Given the description of an element on the screen output the (x, y) to click on. 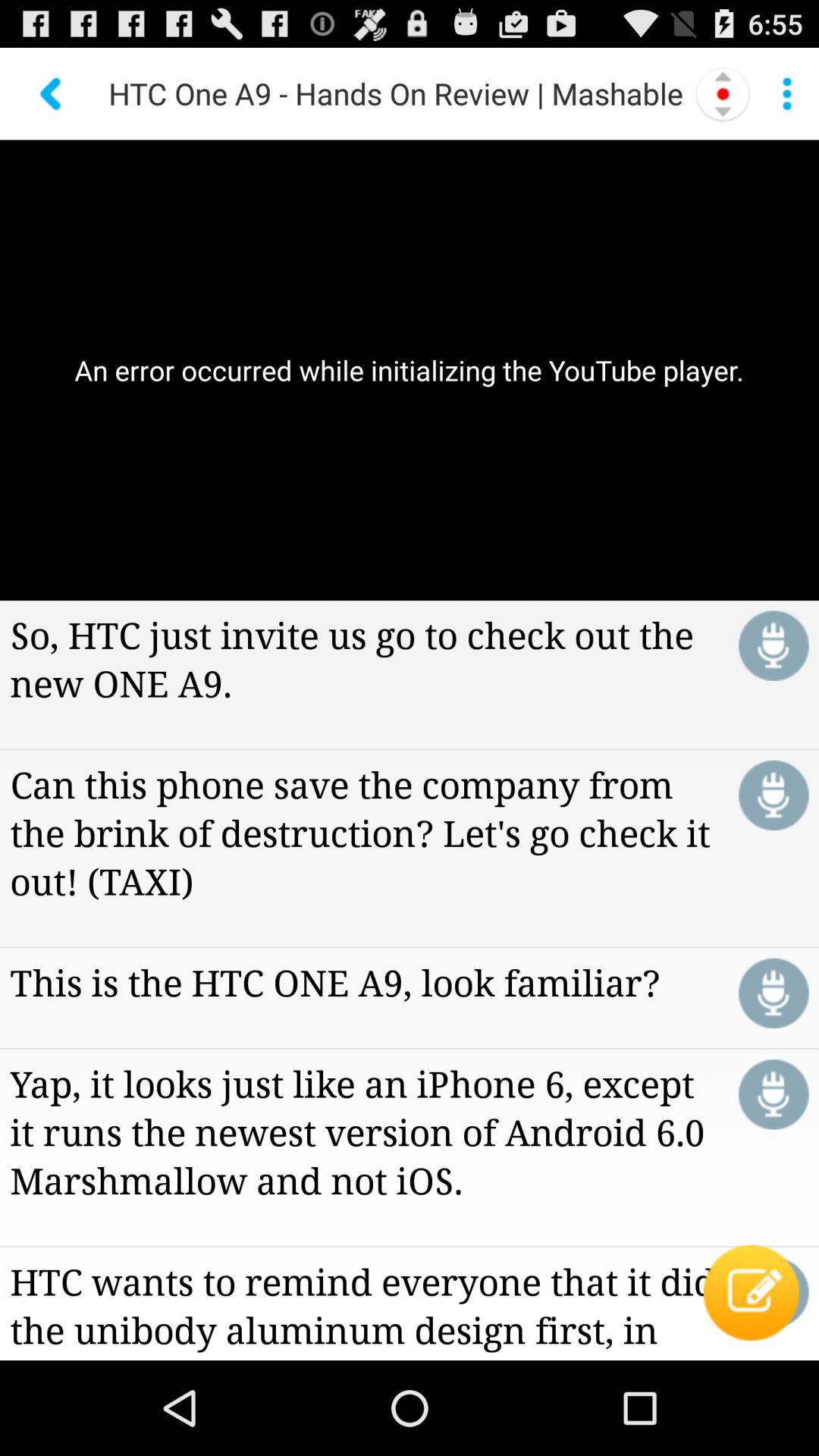
press the icon below the yap it looks app (751, 1292)
